Given the description of an element on the screen output the (x, y) to click on. 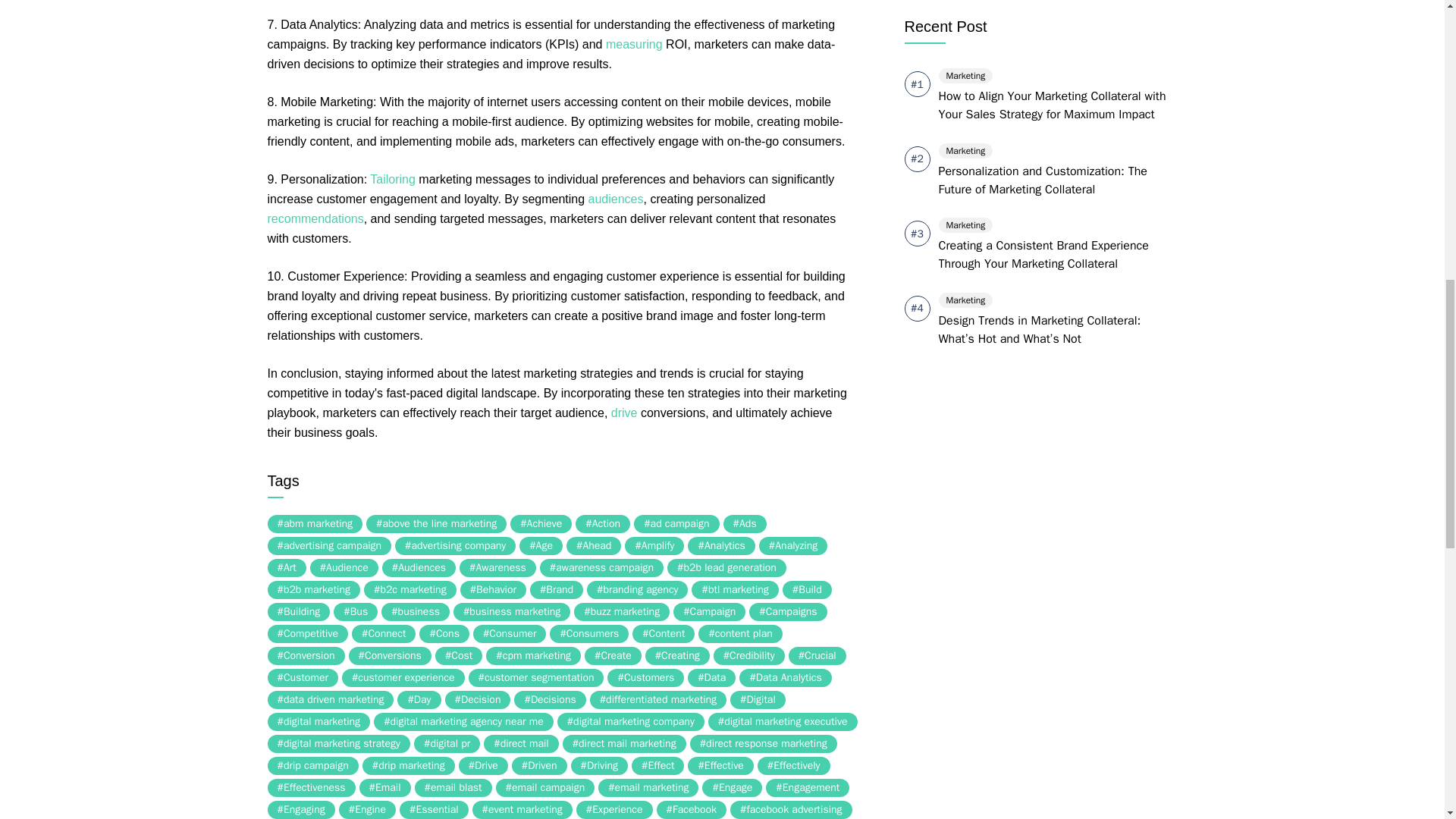
Ahead (593, 546)
Achieve (541, 524)
Analytics (720, 546)
Posts tagged with Tailoring (391, 178)
Audience (344, 567)
measuring (633, 43)
above the line marketing (436, 524)
Art (285, 567)
abm marketing (314, 524)
Posts tagged with Drive (624, 412)
